Given the description of an element on the screen output the (x, y) to click on. 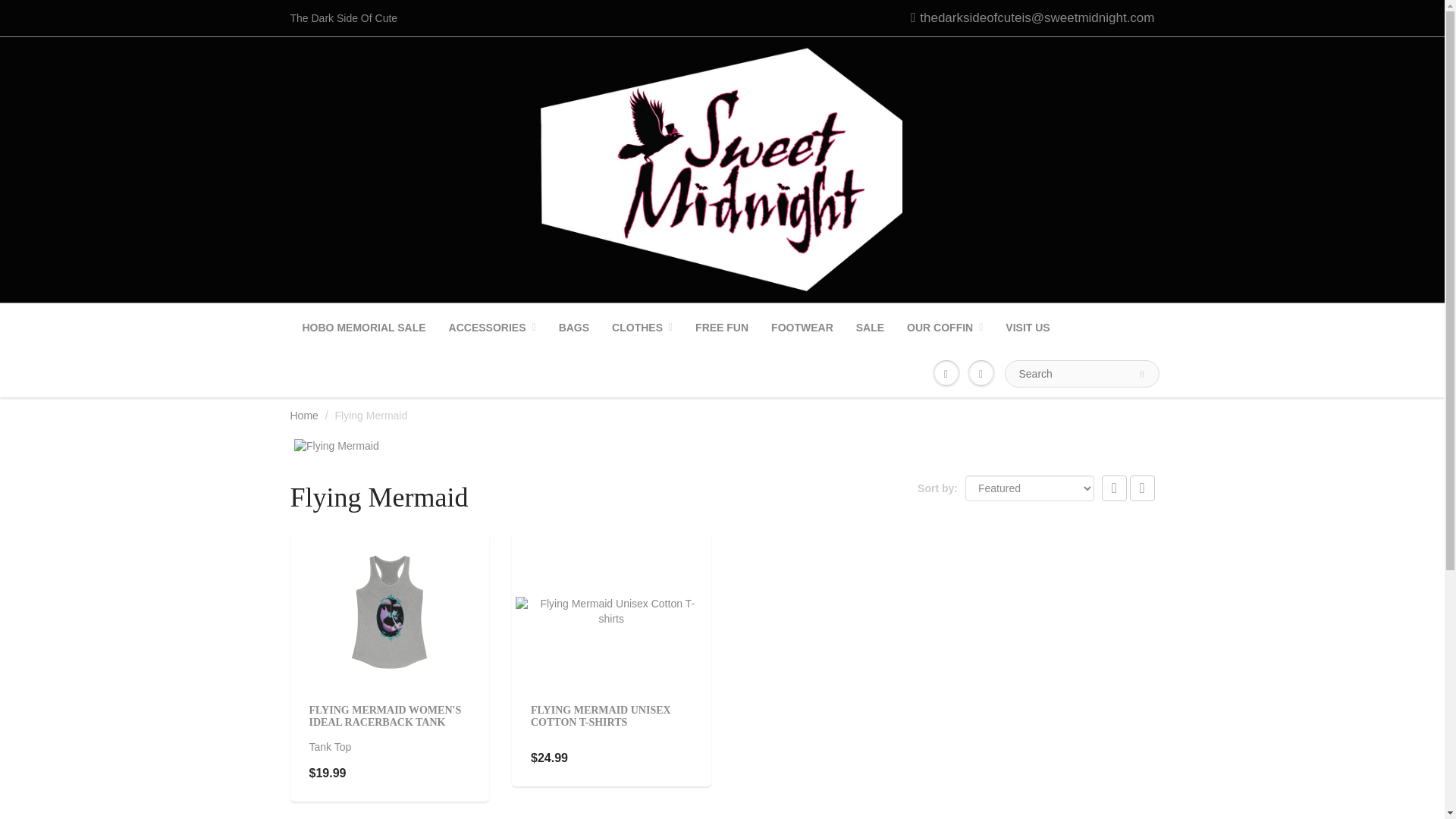
CLOTHES (641, 327)
List View (1141, 488)
Grid view (1114, 488)
ACCESSORIES (492, 327)
Home (303, 415)
Home (303, 415)
SALE (869, 327)
OUR COFFIN (944, 327)
BAGS (573, 327)
VISIT US (1027, 327)
FREE FUN (722, 327)
HOBO MEMORIAL SALE (364, 327)
FOOTWEAR (802, 327)
